Given the description of an element on the screen output the (x, y) to click on. 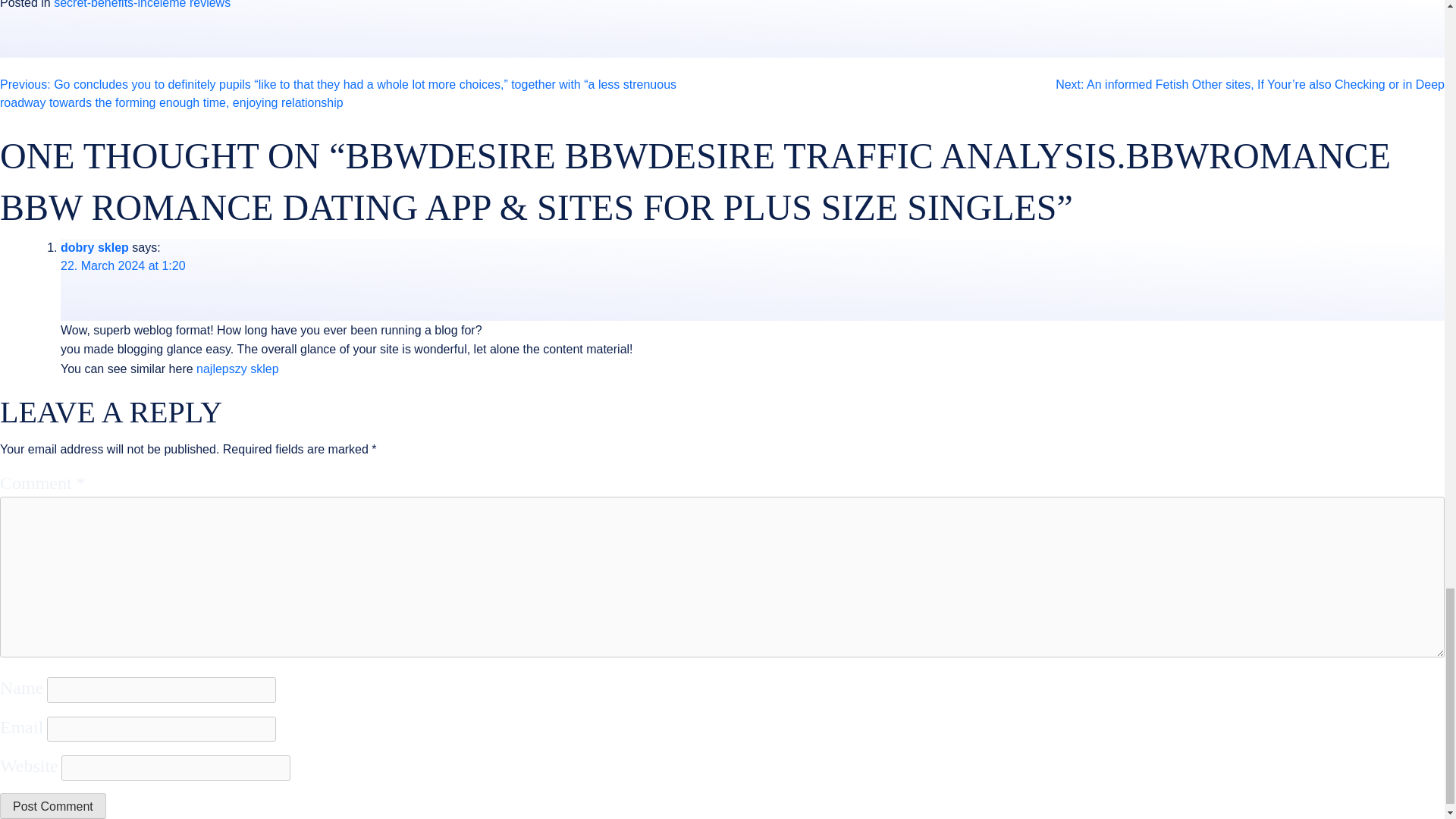
najlepszy sklep (237, 368)
secret-benefits-inceleme reviews (141, 4)
dobry sklep (95, 246)
22. March 2024 at 1:20 (123, 265)
